Given the description of an element on the screen output the (x, y) to click on. 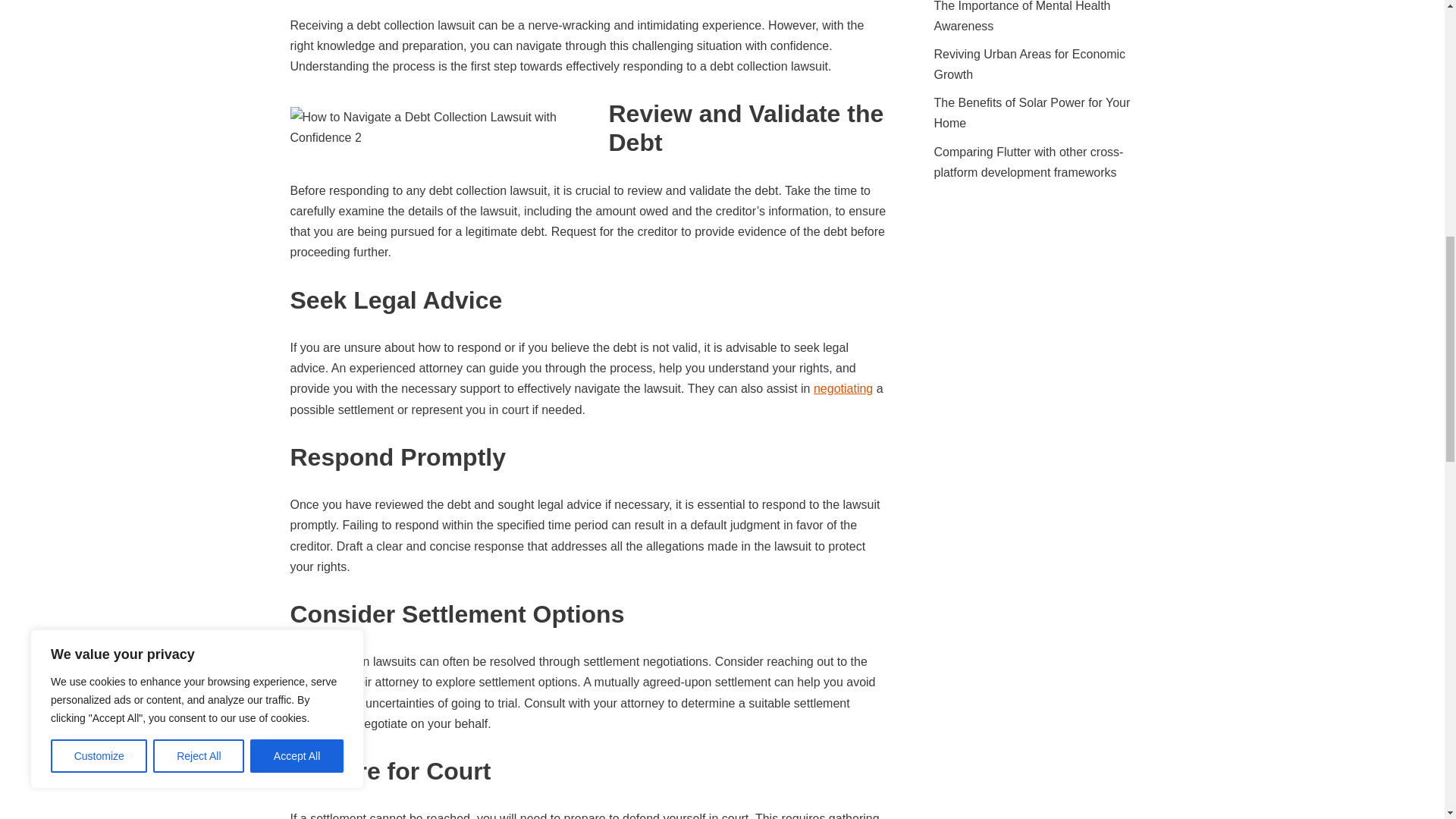
negotiating (842, 388)
